Given the description of an element on the screen output the (x, y) to click on. 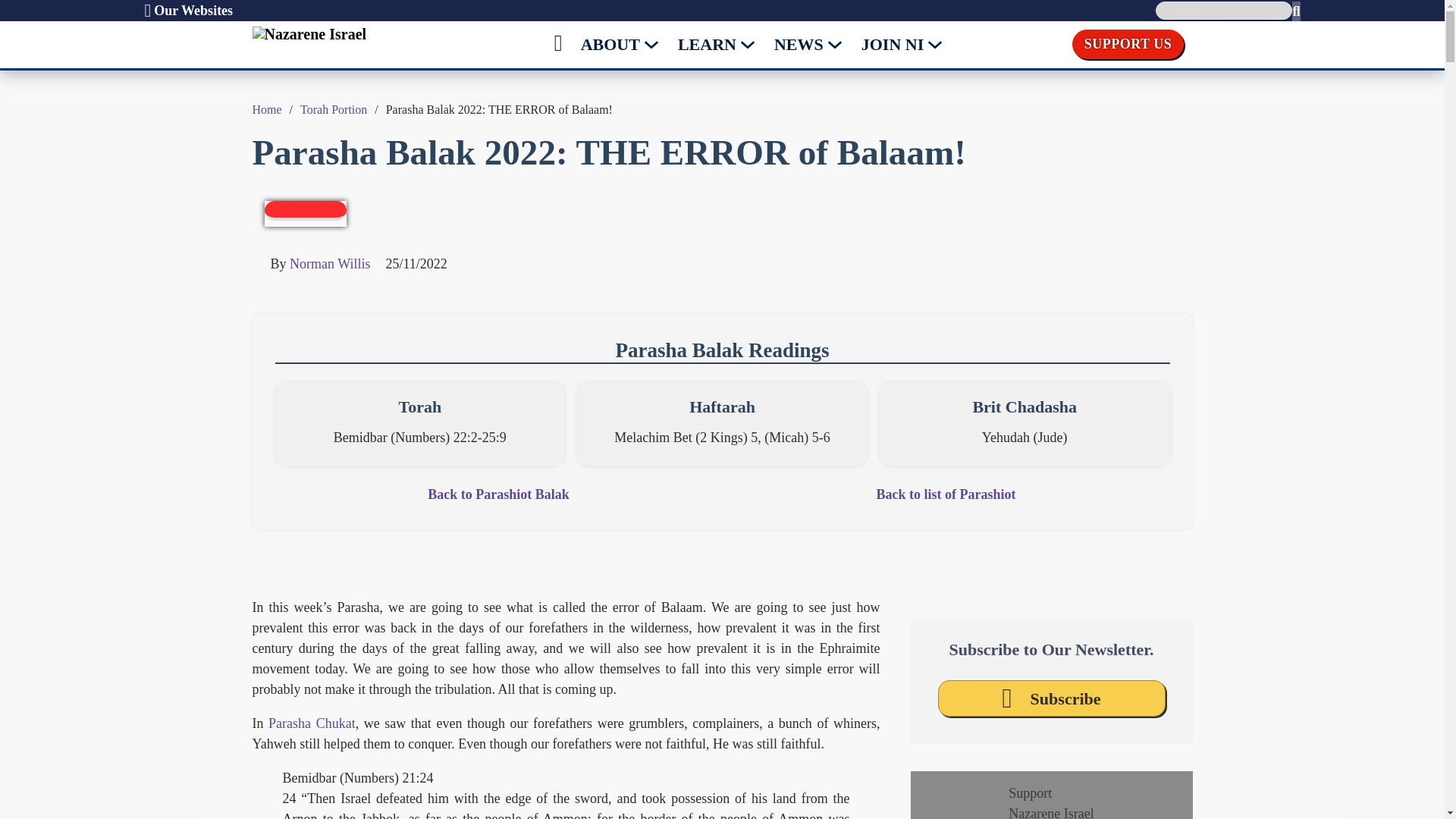
Balak (552, 494)
Parasha Chukat (311, 723)
Norman Willis (329, 263)
SUPPORT US (1128, 43)
Torah Portion (332, 109)
Our Websites (188, 10)
Home (266, 109)
Back to list of Parashiot (946, 494)
Balak (718, 350)
